Given the description of an element on the screen output the (x, y) to click on. 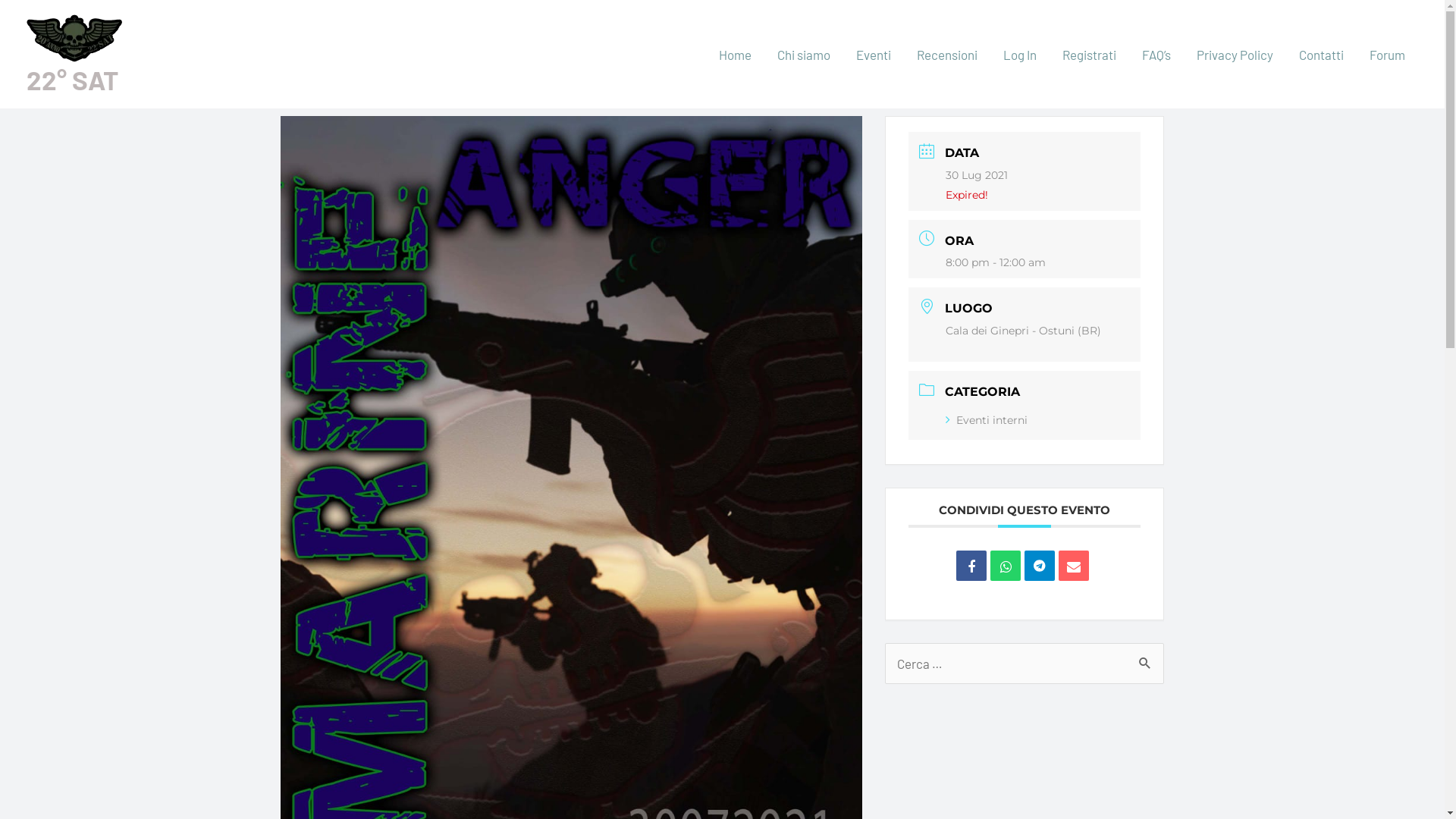
Eventi Element type: text (873, 53)
Email Element type: hover (1073, 565)
Cerca Element type: text (1139, 657)
Condividi su Facebook Element type: hover (971, 565)
Share on Telegram Element type: hover (1039, 565)
Share on WhatsApp Element type: hover (1005, 565)
Contatti Element type: text (1321, 53)
Privacy Policy Element type: text (1234, 53)
Recensioni Element type: text (946, 53)
Forum Element type: text (1387, 53)
Registrati Element type: text (1089, 53)
Eventi interni Element type: text (986, 419)
Chi siamo Element type: text (803, 53)
Home Element type: text (735, 53)
Log In Element type: text (1019, 53)
